Given the description of an element on the screen output the (x, y) to click on. 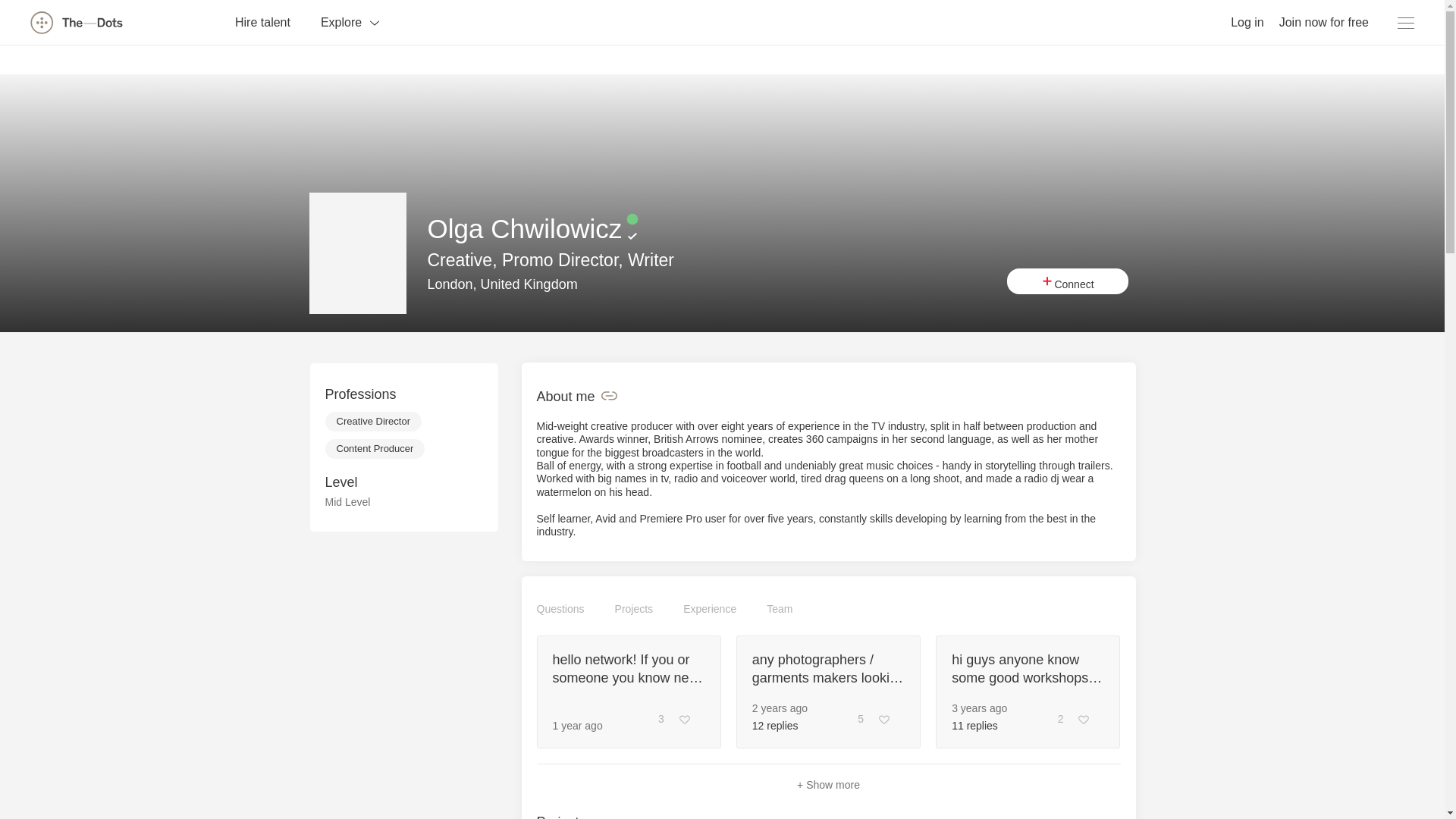
Team (779, 608)
Explore (350, 21)
Hire talent (261, 21)
Experience (709, 608)
Log in (1246, 21)
Join now for free (1323, 21)
Projects (633, 608)
Questions (561, 608)
Connect (1067, 281)
